Given the description of an element on the screen output the (x, y) to click on. 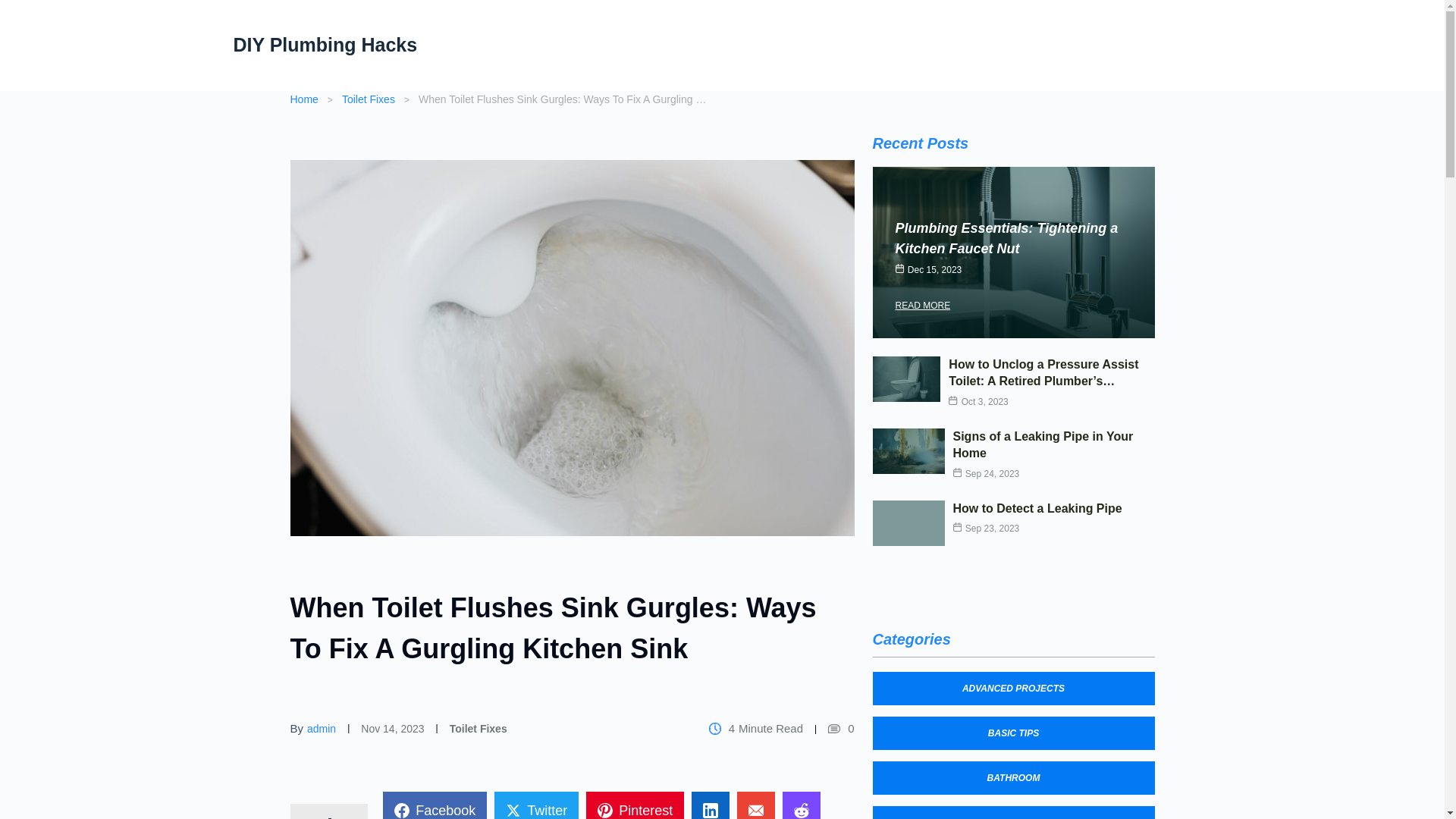
Pinterest (635, 805)
Plumbing Essentials: Tightening a Kitchen Faucet Nut (1006, 238)
Toilet Fixes (368, 99)
BASIC TIPS (1013, 733)
Twitter (536, 805)
ADVANCED PROJECTS (1013, 688)
Toilet Fixes (477, 728)
Home (303, 99)
DIY Plumbing Hacks (324, 44)
How to Detect a Leaking Pipe (1036, 508)
Signs of a Leaking Pipe in Your Home (1042, 444)
READ MORE (922, 305)
admin (321, 728)
Skip to content (15, 7)
Facebook (434, 805)
